Given the description of an element on the screen output the (x, y) to click on. 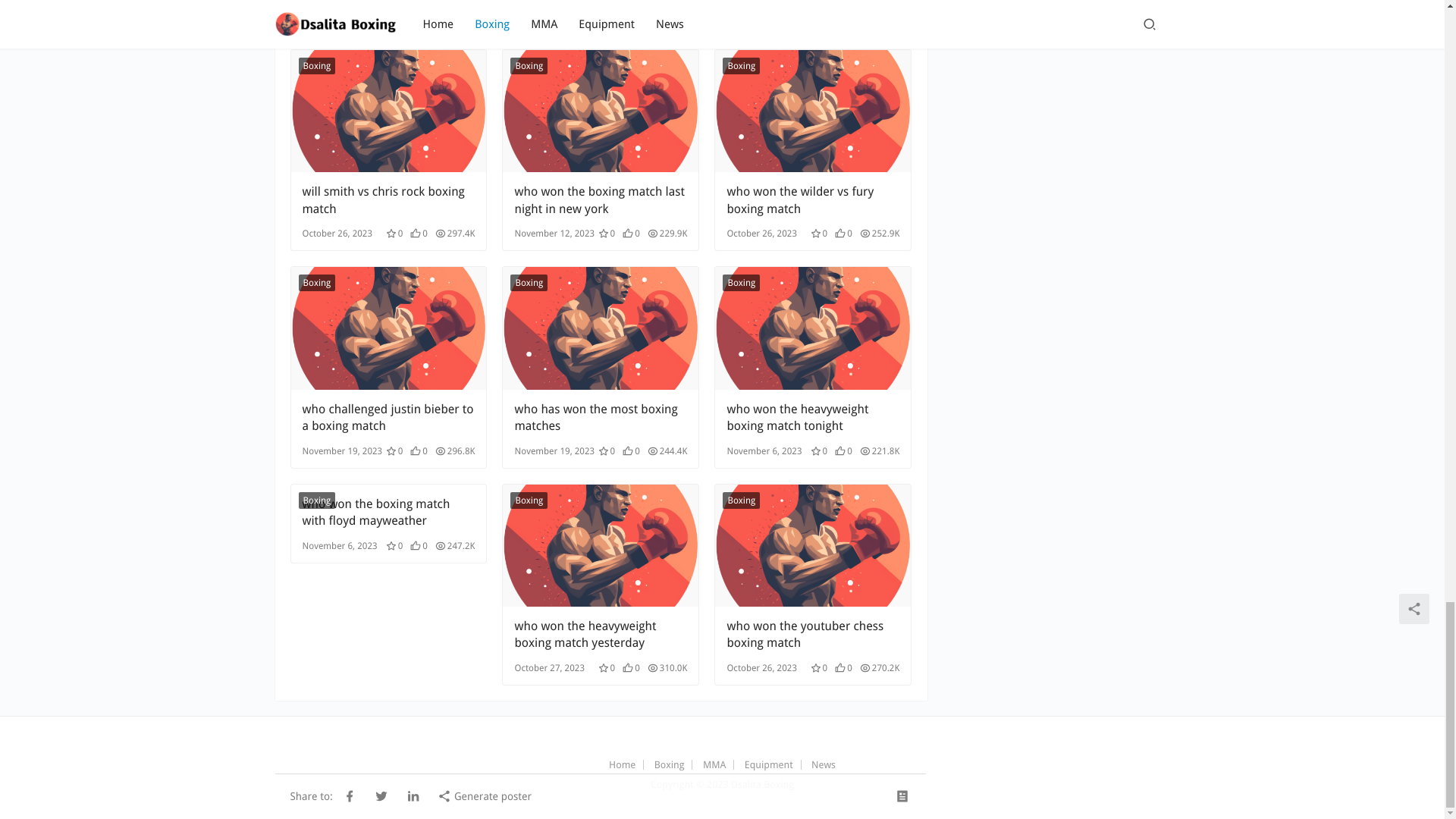
who won the wilder vs fury boxing match (812, 110)
who won the boxing match last night in new york (600, 110)
will smith vs chris rock boxing match (387, 200)
who won the wilder vs fury boxing match (812, 200)
who won the wilder vs fury boxing match (812, 200)
Boxing (741, 65)
will smith vs chris rock boxing match (387, 200)
who challenged justin bieber to a boxing match (387, 417)
who has won the most boxing matches (600, 327)
Boxing (317, 282)
who challenged justin bieber to a boxing match (388, 327)
will smith vs chris rock boxing match (388, 110)
Boxing (317, 65)
who has won the most boxing matches (600, 417)
who won the boxing match last night in new york (600, 200)
